Given the description of an element on the screen output the (x, y) to click on. 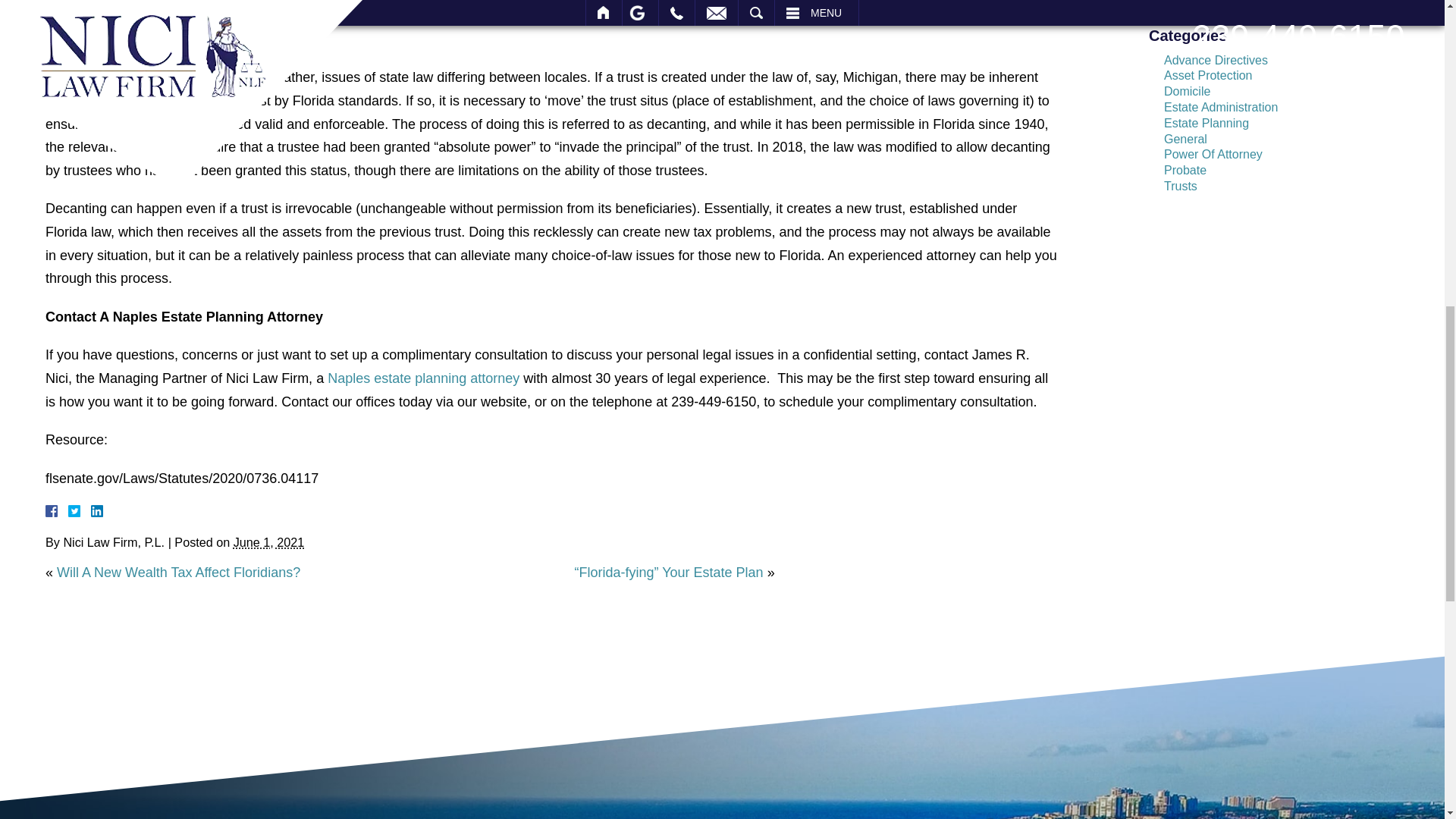
Twitter (80, 510)
LinkedIn (90, 510)
2021-06-01T03:00:04-0700 (268, 541)
Facebook (69, 510)
